Given the description of an element on the screen output the (x, y) to click on. 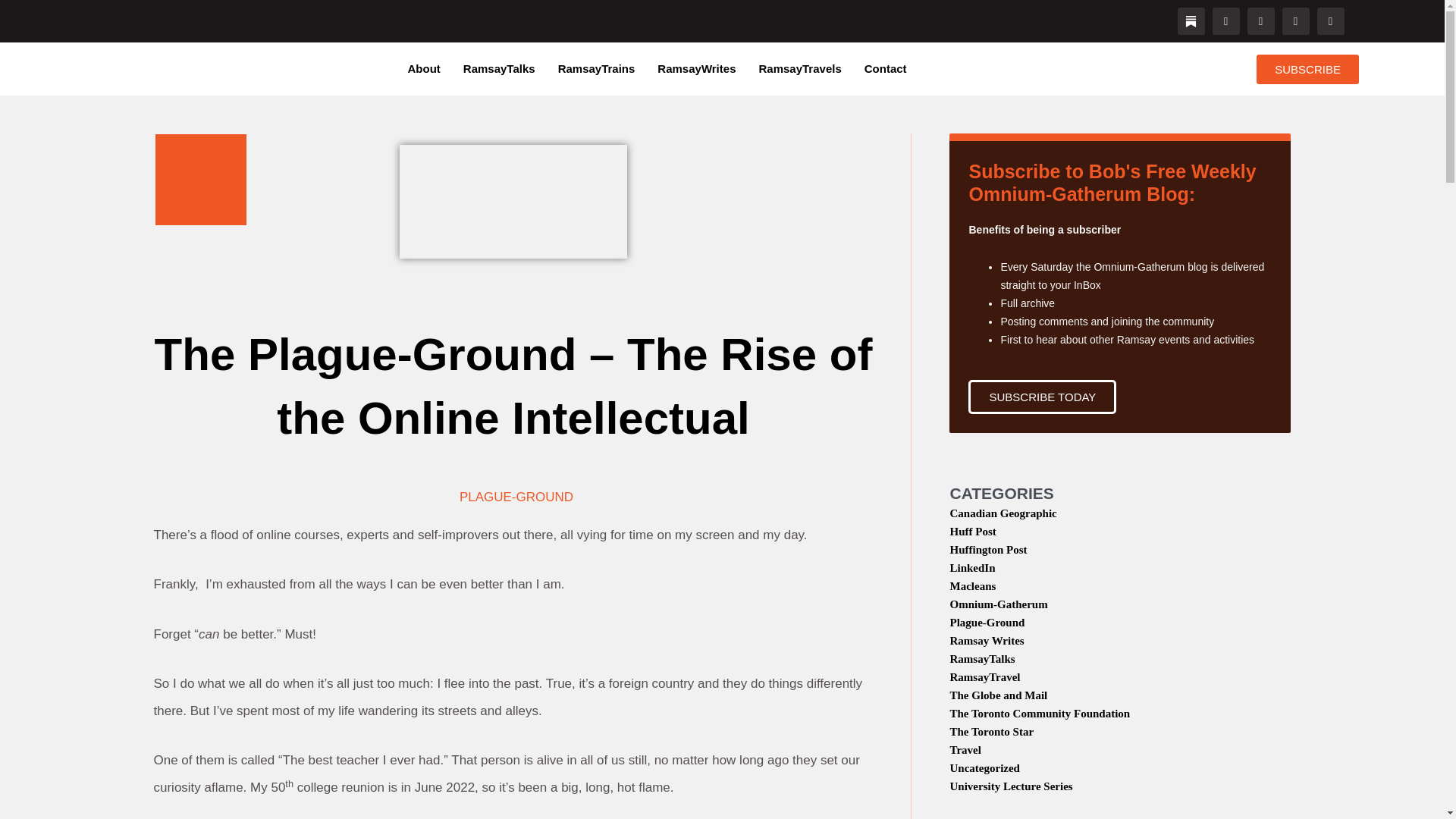
Contact (885, 68)
About (424, 68)
RamsayTrains (595, 68)
RamsayTalks (499, 68)
PLAGUE-GROUND (516, 496)
THE NEW YORKER (512, 201)
RamsayTravels (799, 68)
RamsayWrites (696, 68)
SUBSCRIBE (1307, 69)
